Given the description of an element on the screen output the (x, y) to click on. 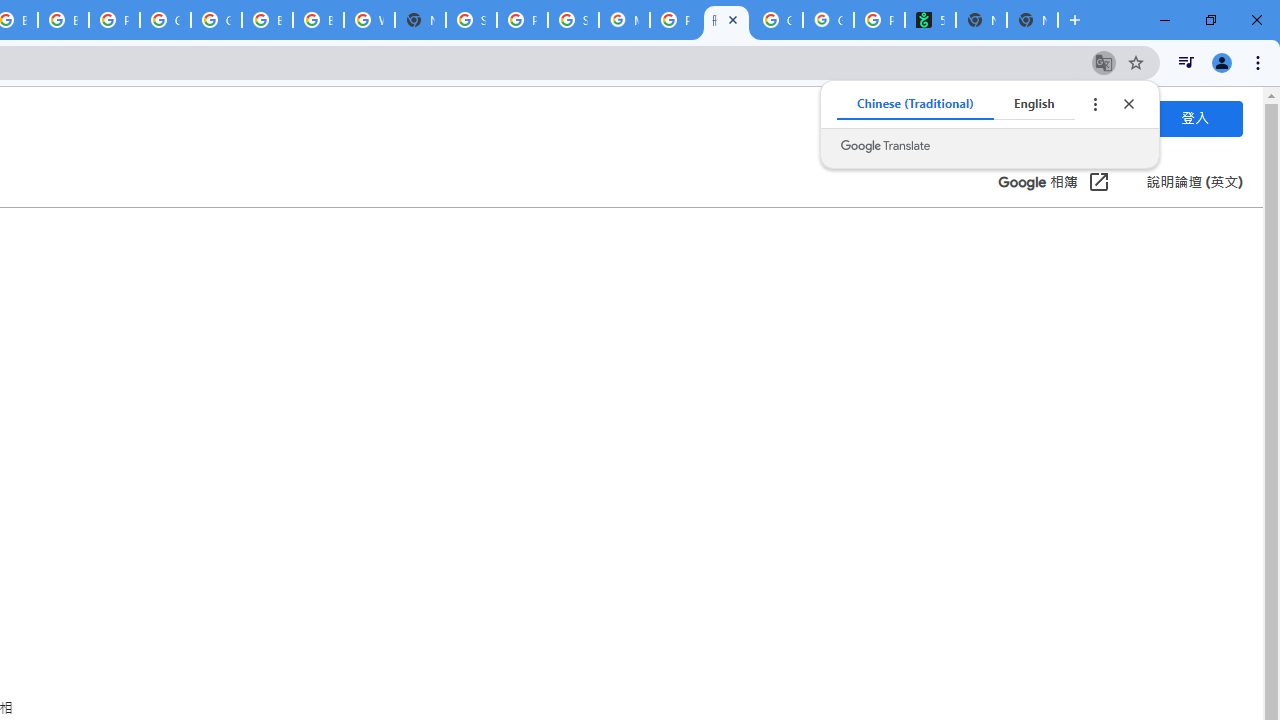
Browse Chrome as a guest - Computer - Google Chrome Help (318, 20)
